Given the description of an element on the screen output the (x, y) to click on. 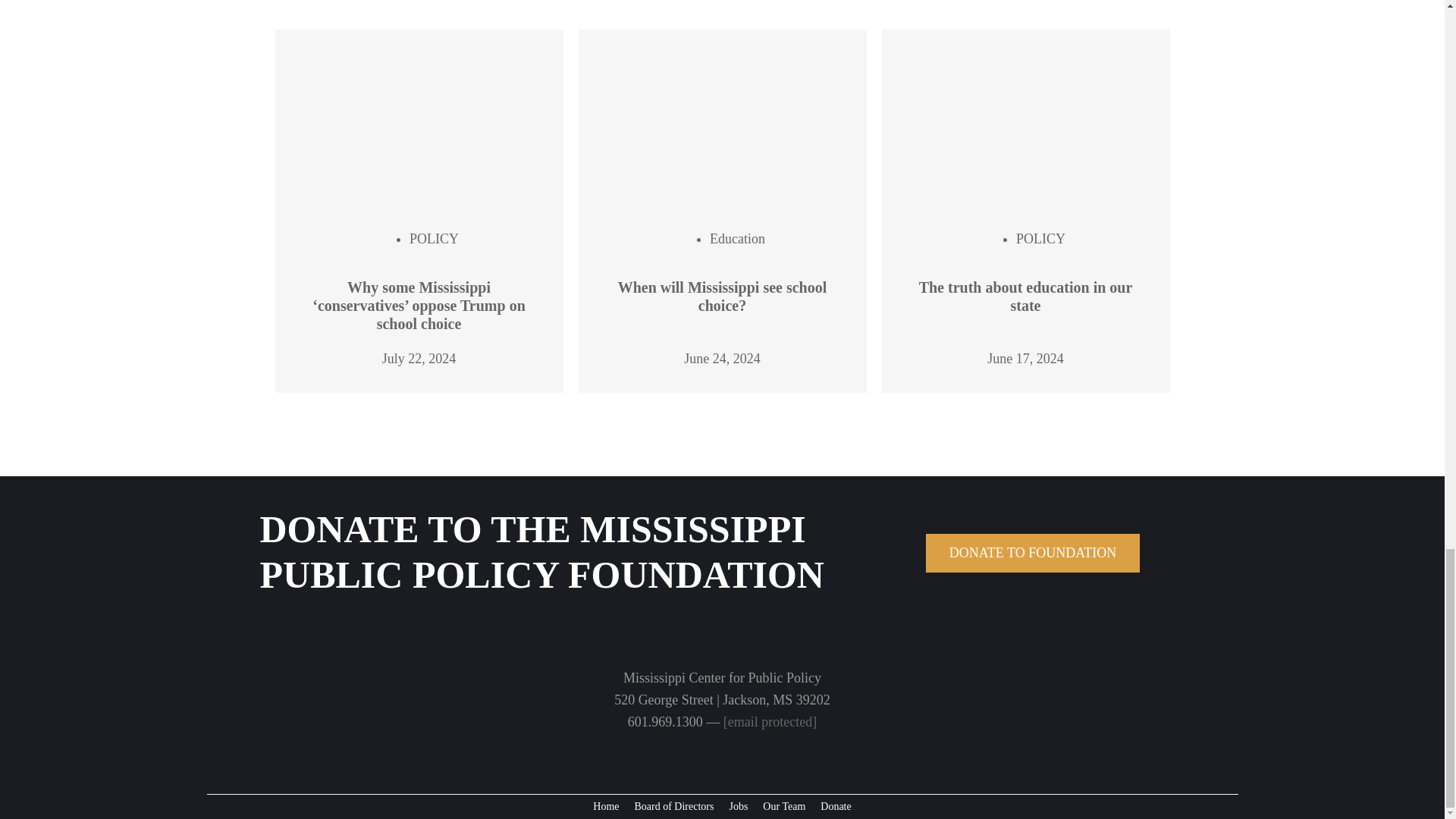
Education (737, 238)
POLICY (433, 238)
